Given the description of an element on the screen output the (x, y) to click on. 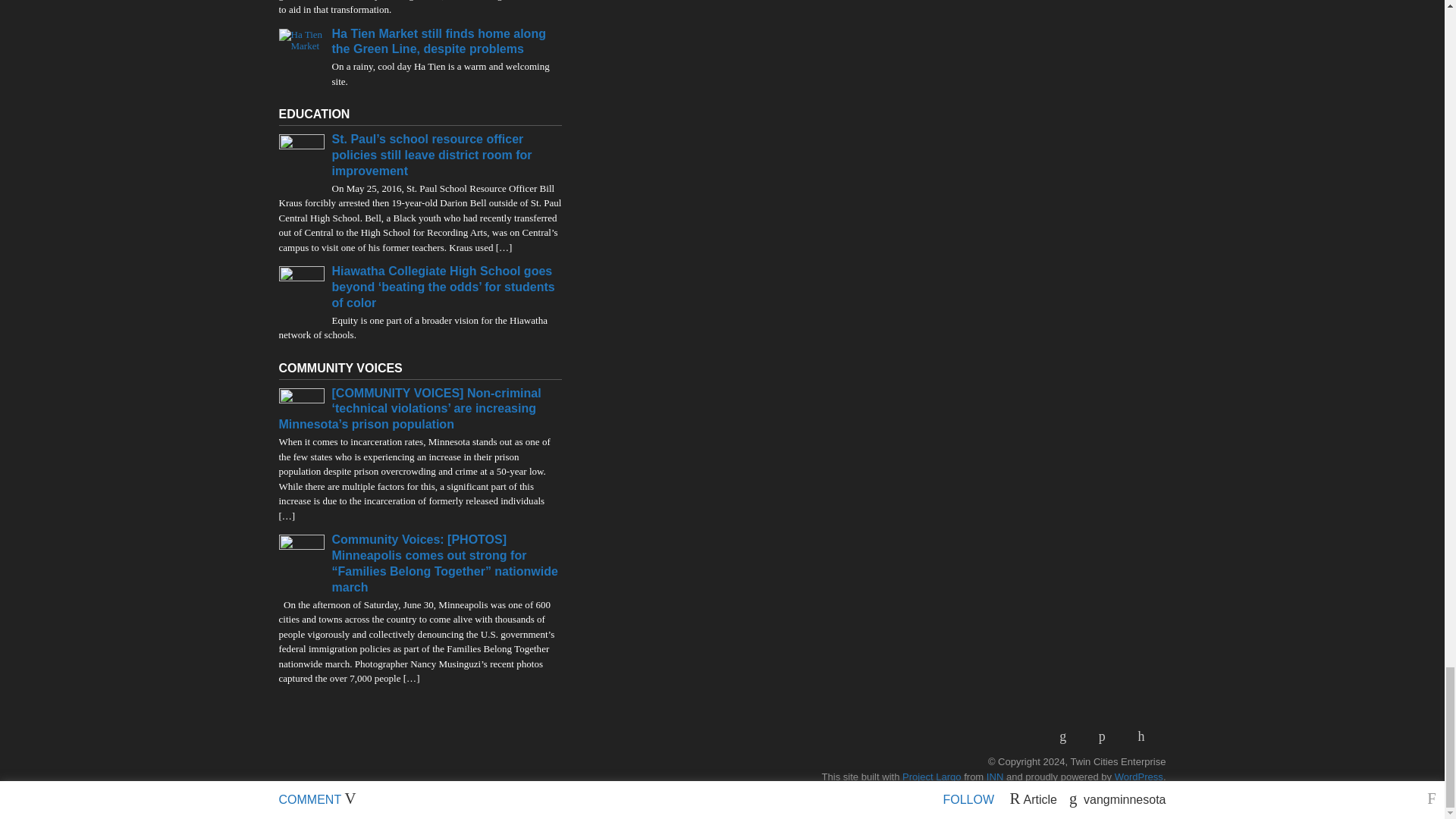
Link to Facebook Profile (1106, 735)
Link to Twitter Page (1146, 735)
Link to RSS Feed (1067, 735)
